Given the description of an element on the screen output the (x, y) to click on. 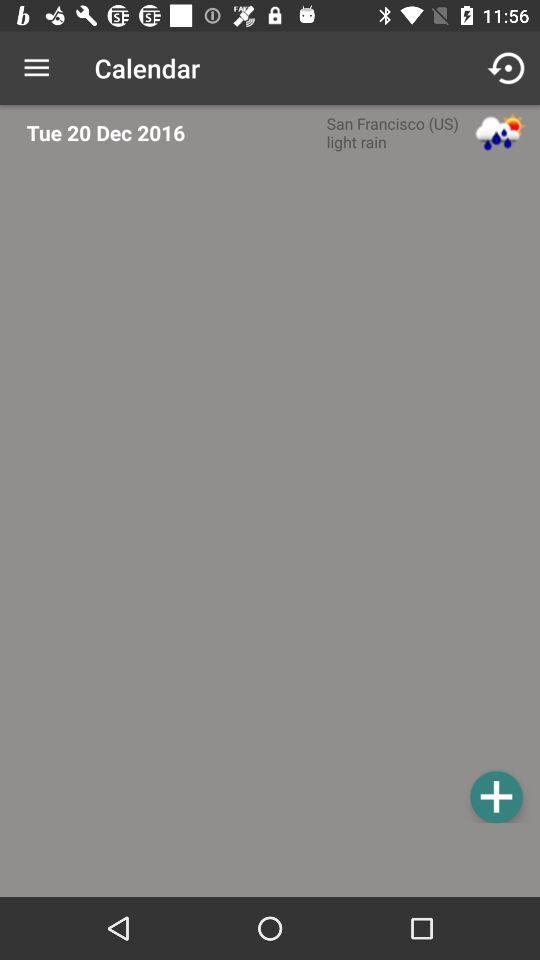
tap the icon at the center (276, 494)
